Given the description of an element on the screen output the (x, y) to click on. 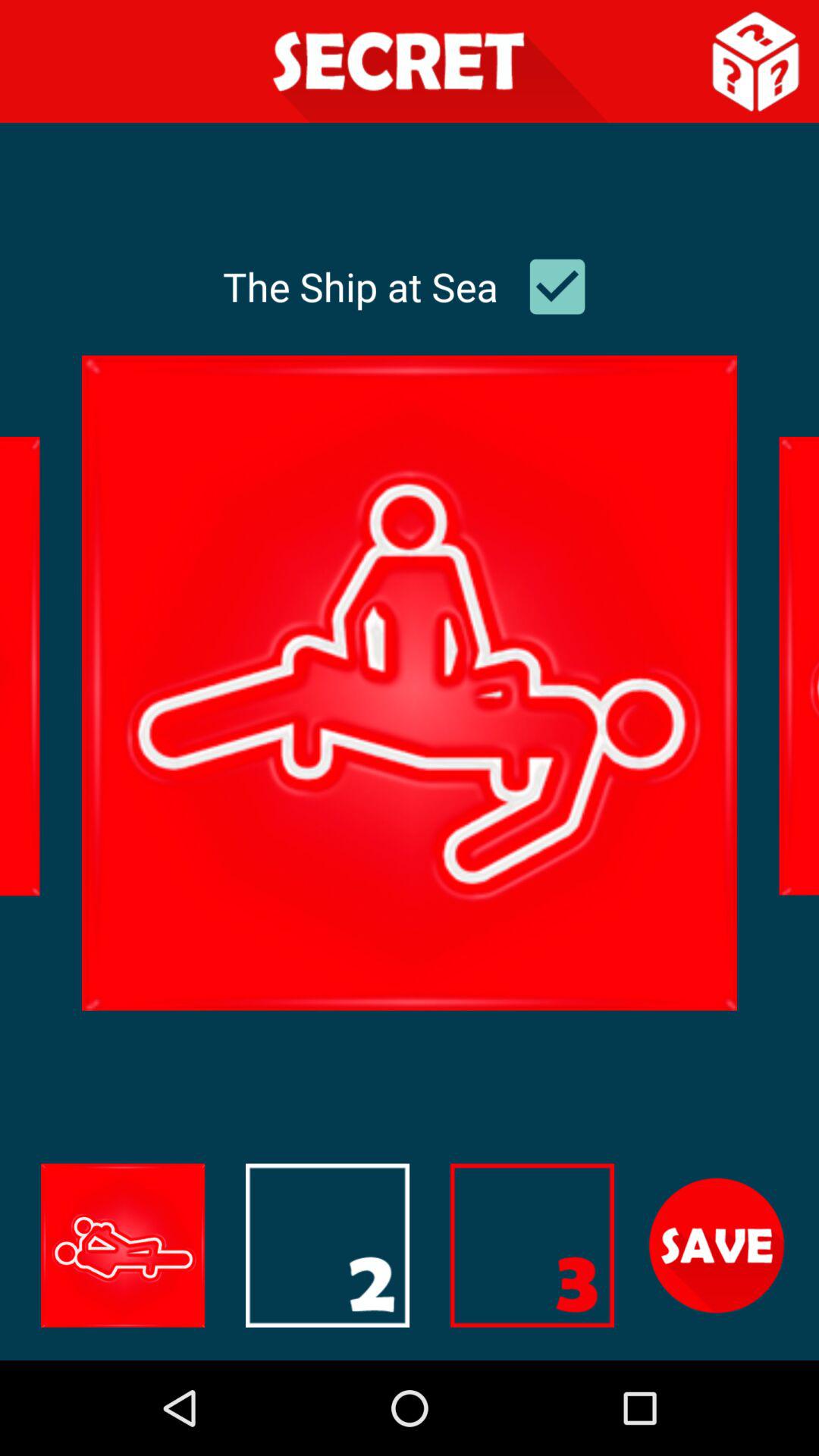
save position (716, 1245)
